Given the description of an element on the screen output the (x, y) to click on. 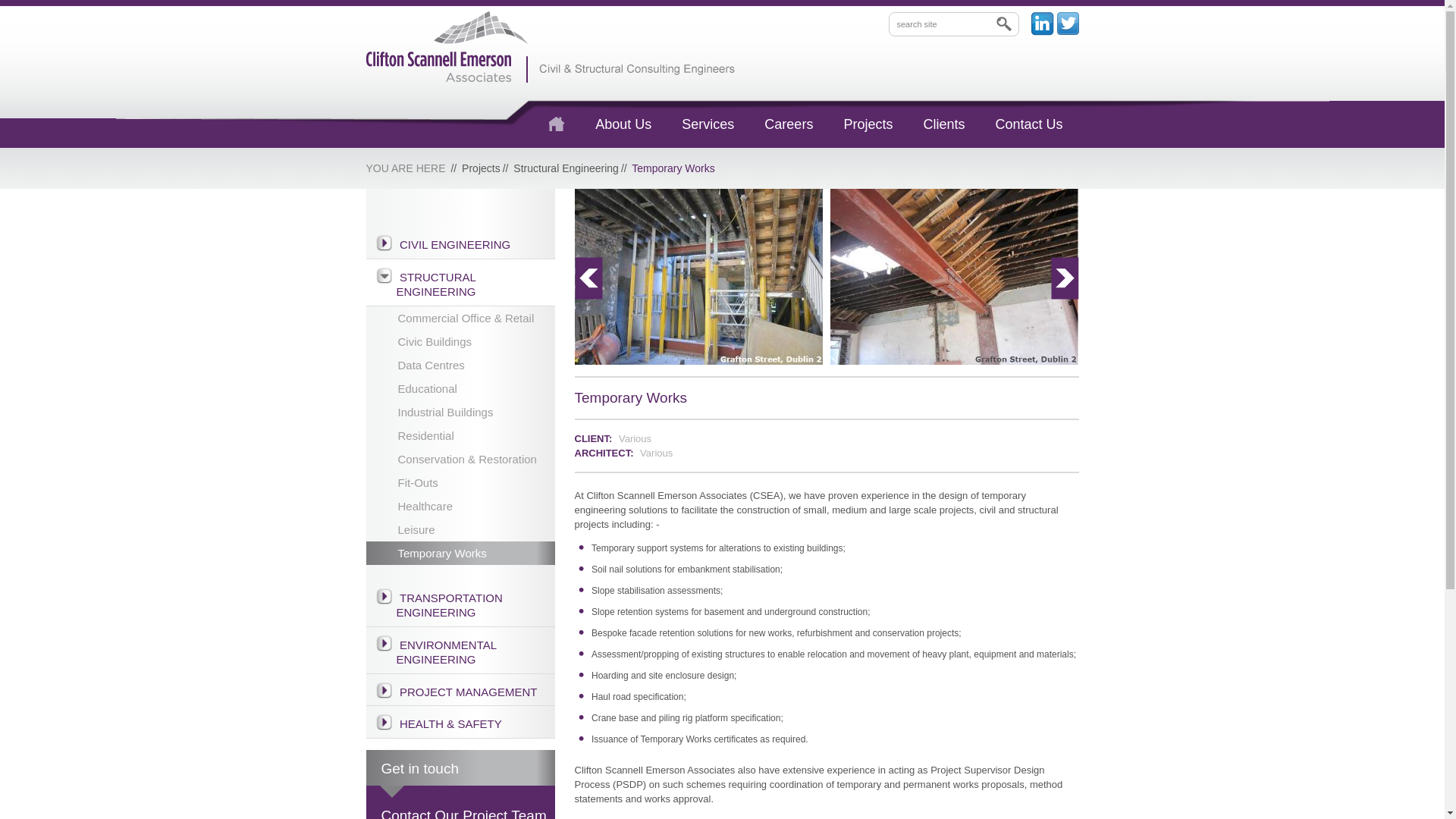
Careers (788, 124)
About Us (622, 124)
search site (953, 24)
Services (707, 124)
About Us (622, 124)
Careers (788, 124)
Projects (867, 124)
Services (707, 124)
Home (556, 124)
Home (556, 124)
